Given the description of an element on the screen output the (x, y) to click on. 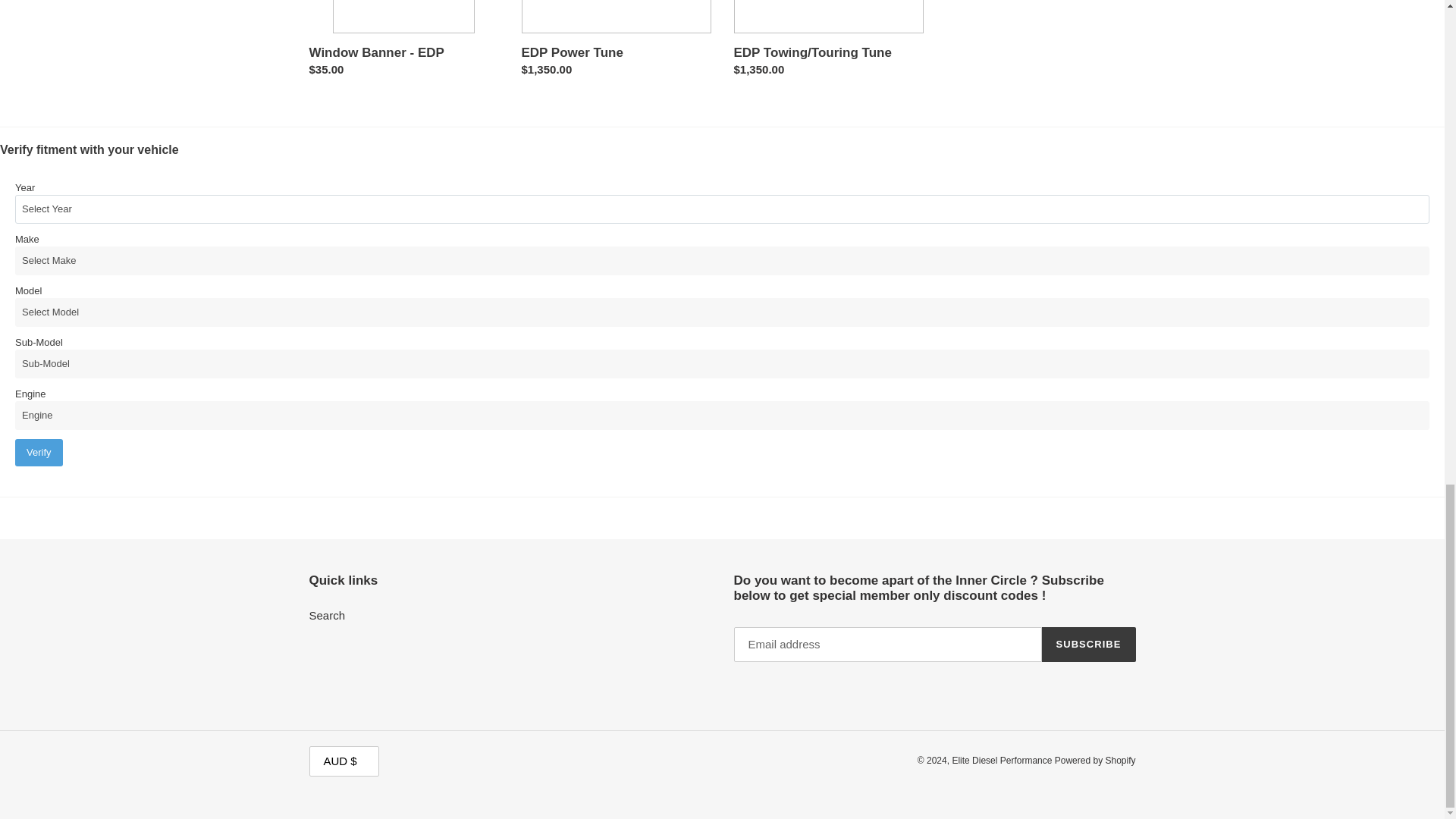
Search (327, 615)
EDP Power Tune (616, 42)
SUBSCRIBE (1088, 644)
Verify (38, 452)
Window Banner - EDP (403, 42)
